Given the description of an element on the screen output the (x, y) to click on. 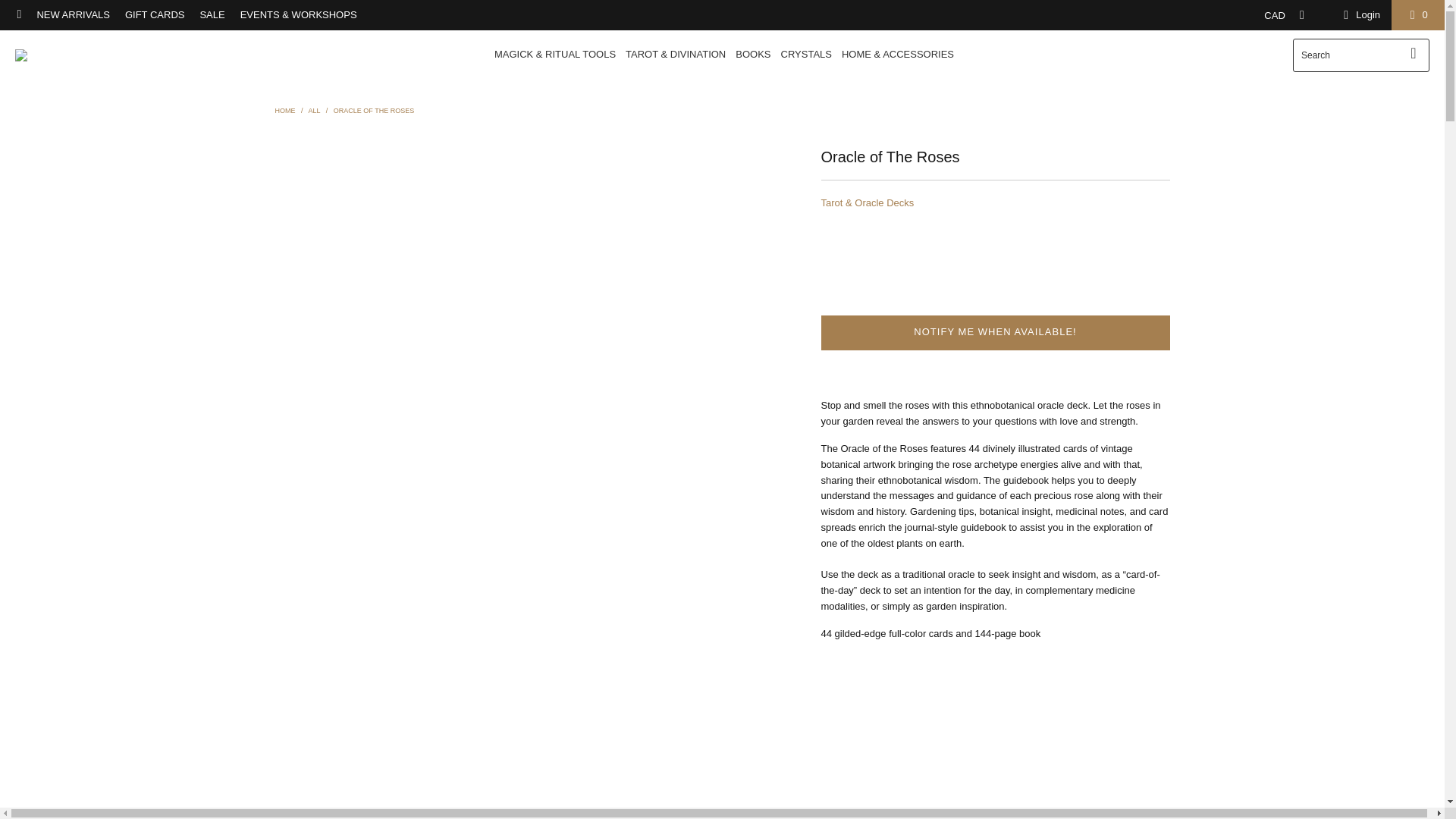
Rite of Ritual on Instagram (17, 14)
Rite of Ritual (285, 110)
ALL (314, 110)
My Account  (1359, 15)
Rite of Ritual (58, 55)
